Given the description of an element on the screen output the (x, y) to click on. 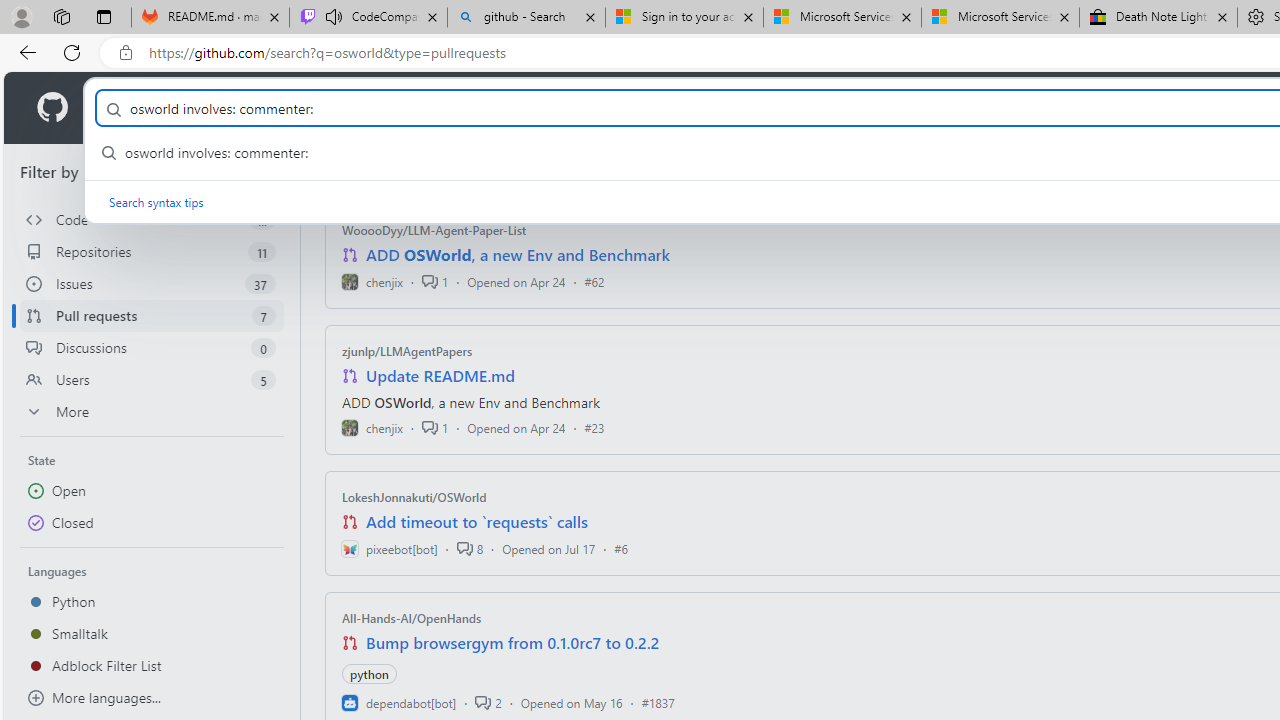
Mute tab (333, 16)
WooooDyy/LLM-Agent-Paper-List (434, 230)
Open Source (446, 107)
Resources (330, 107)
#62 (594, 281)
Sign in to your account (683, 17)
